Given the description of an element on the screen output the (x, y) to click on. 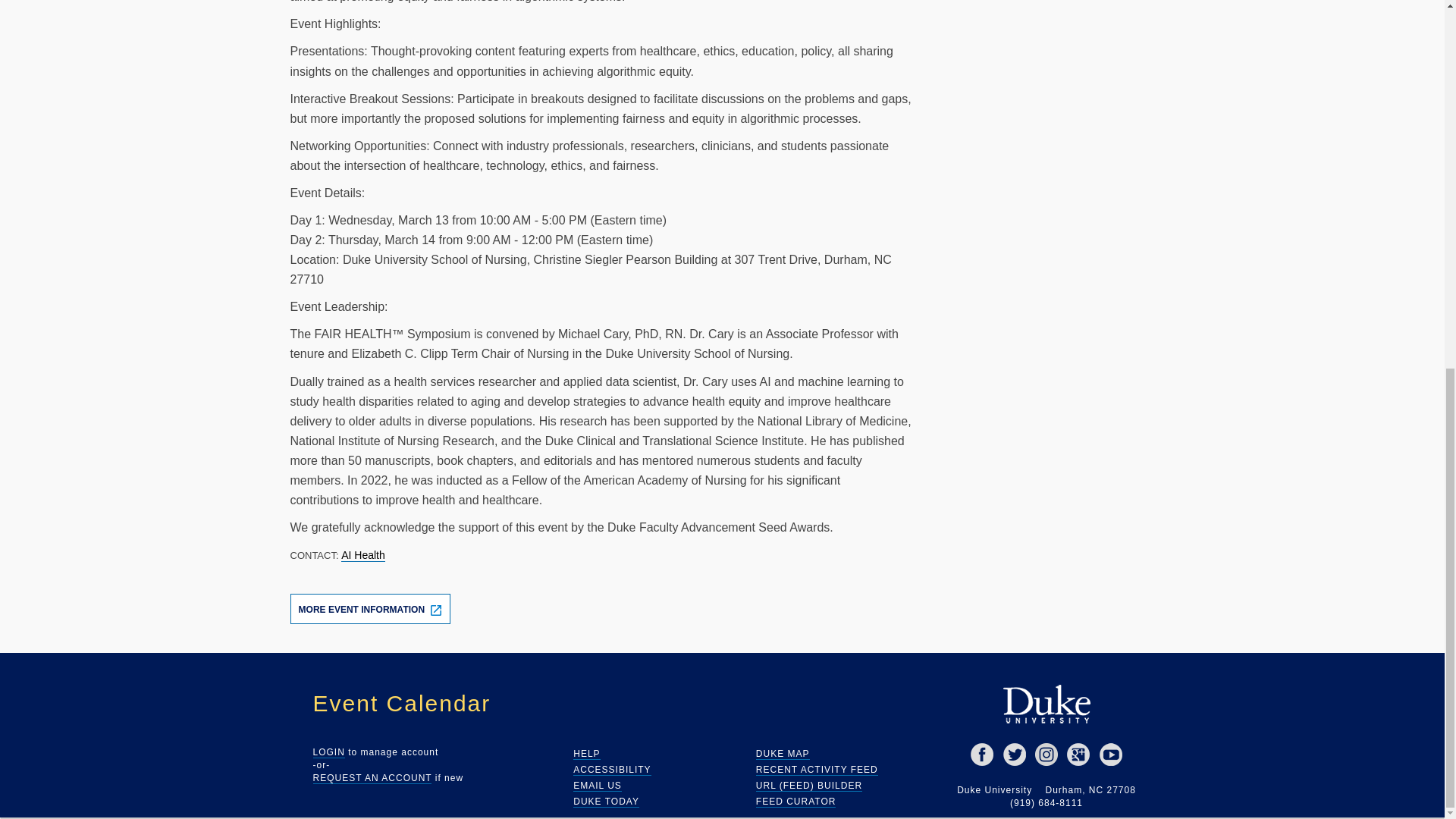
AI Health (362, 554)
MORE EVENT INFORMATION (369, 608)
